Given the description of an element on the screen output the (x, y) to click on. 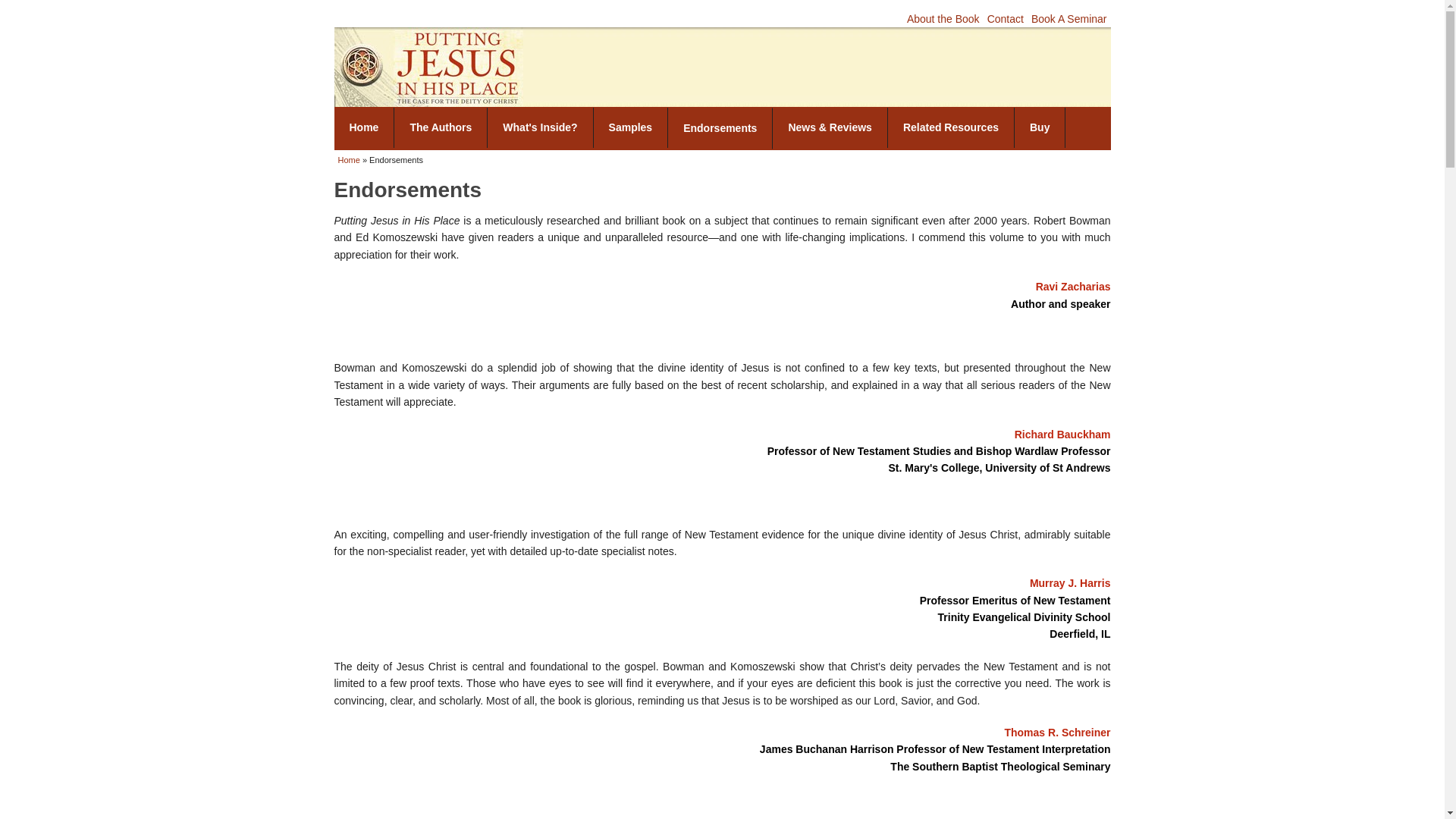
Home (427, 67)
Book A Seminar (1068, 19)
Samples (631, 127)
Contact (1005, 19)
The Authors (440, 127)
Samples (631, 127)
Buy (1039, 127)
What's Inside? (539, 127)
Home (348, 159)
What's Inside? (539, 127)
Home (363, 127)
Endorsements (720, 127)
About the Book (943, 19)
Related Resources (951, 127)
